Given the description of an element on the screen output the (x, y) to click on. 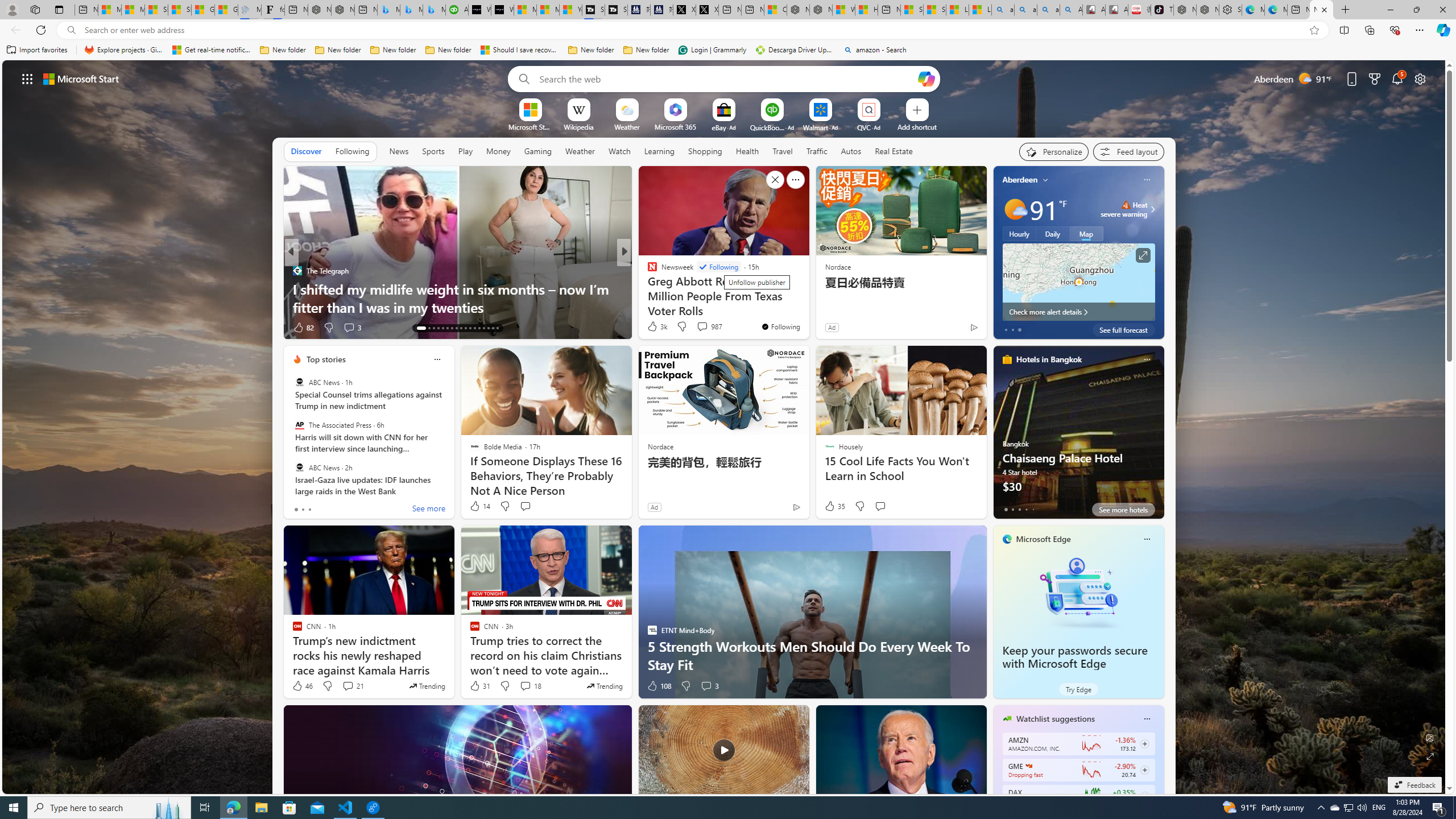
Mostly sunny (1014, 208)
Autos (851, 151)
